Given the description of an element on the screen output the (x, y) to click on. 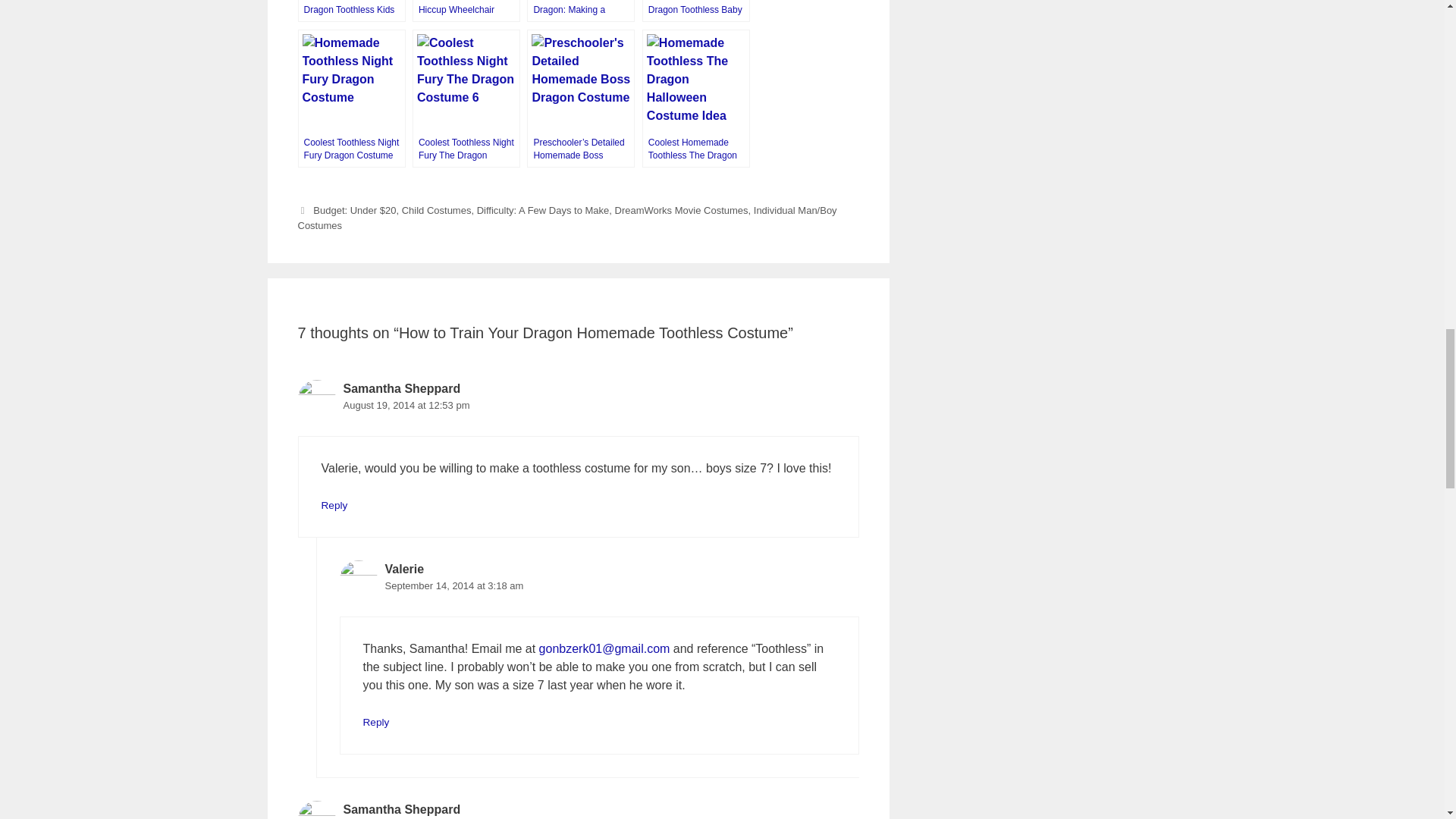
Awesome Toothless and Hiccup Wheelchair Costume (465, 11)
How to Train Your Dragon Toothless Kids Costume (350, 11)
